Given the description of an element on the screen output the (x, y) to click on. 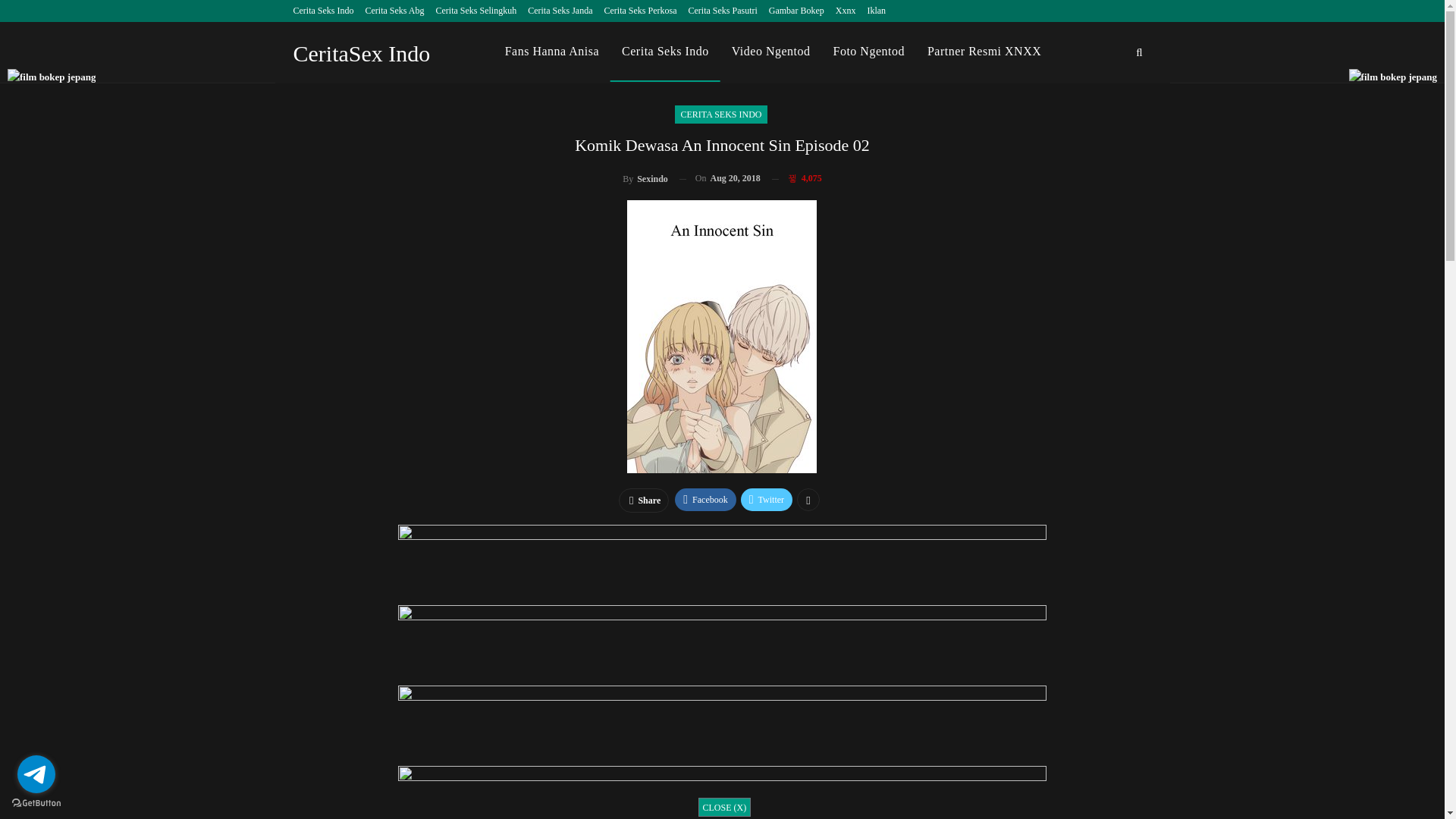
Iklan (875, 9)
Cerita Seks Perkosa (640, 9)
Cerita Seks Indo (322, 9)
Cerita Seks Selingkuh (475, 9)
Gambar Bokep (796, 9)
Foto Ngentod (868, 51)
Twitter (766, 499)
Xxnx (845, 9)
CeritaSex Indo (365, 52)
Cerita Seks Pasutri (722, 9)
Cerita Seks Janda (559, 9)
Partner Resmi XNXX (983, 51)
By Sexindo (645, 178)
CERITA SEKS INDO (721, 114)
Facebook (705, 499)
